Given the description of an element on the screen output the (x, y) to click on. 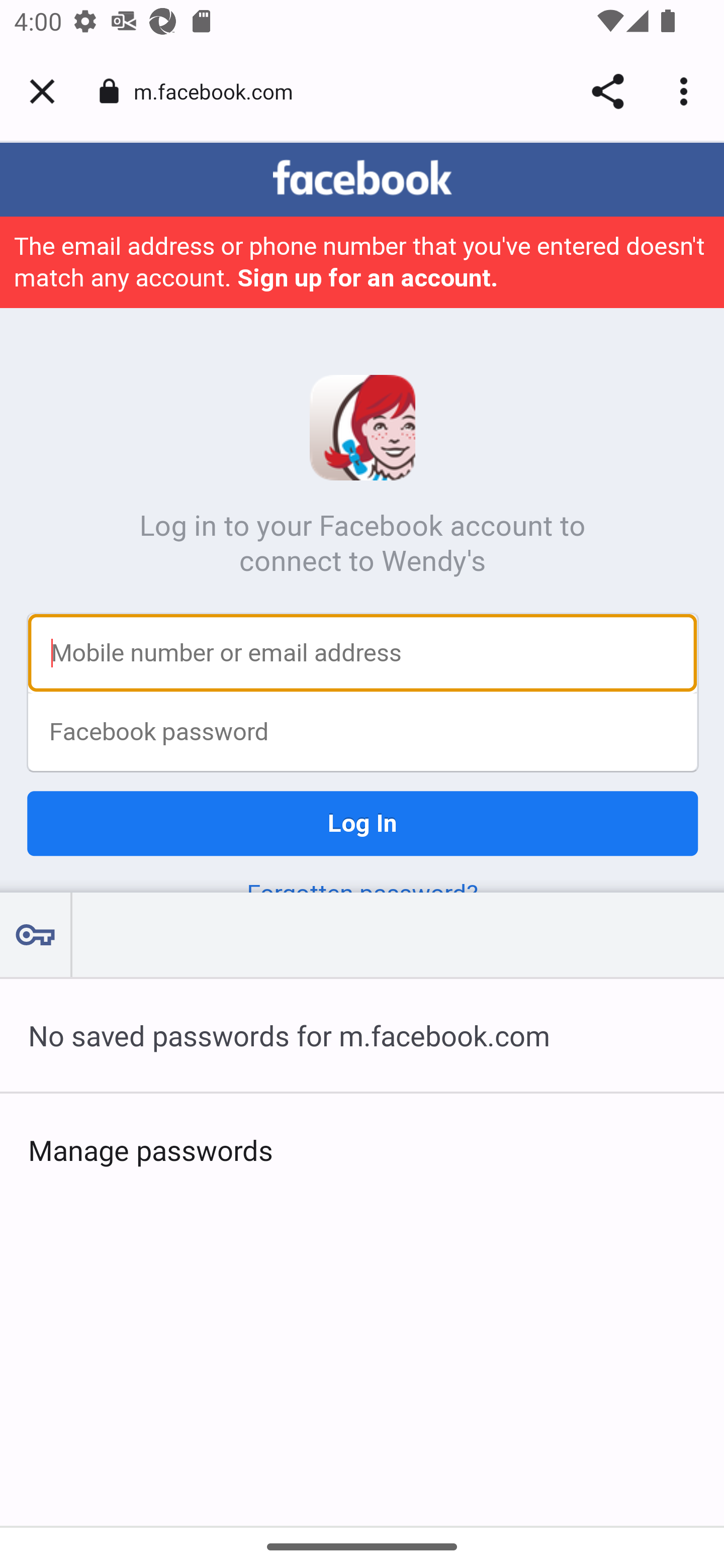
Close tab (42, 91)
Share (607, 91)
More options (687, 91)
Connection is secure (108, 91)
m.facebook.com (219, 90)
facebook (361, 179)
Sign up for an account. (367, 278)
Log In (363, 824)
Manage passwords (362, 1149)
